Given the description of an element on the screen output the (x, y) to click on. 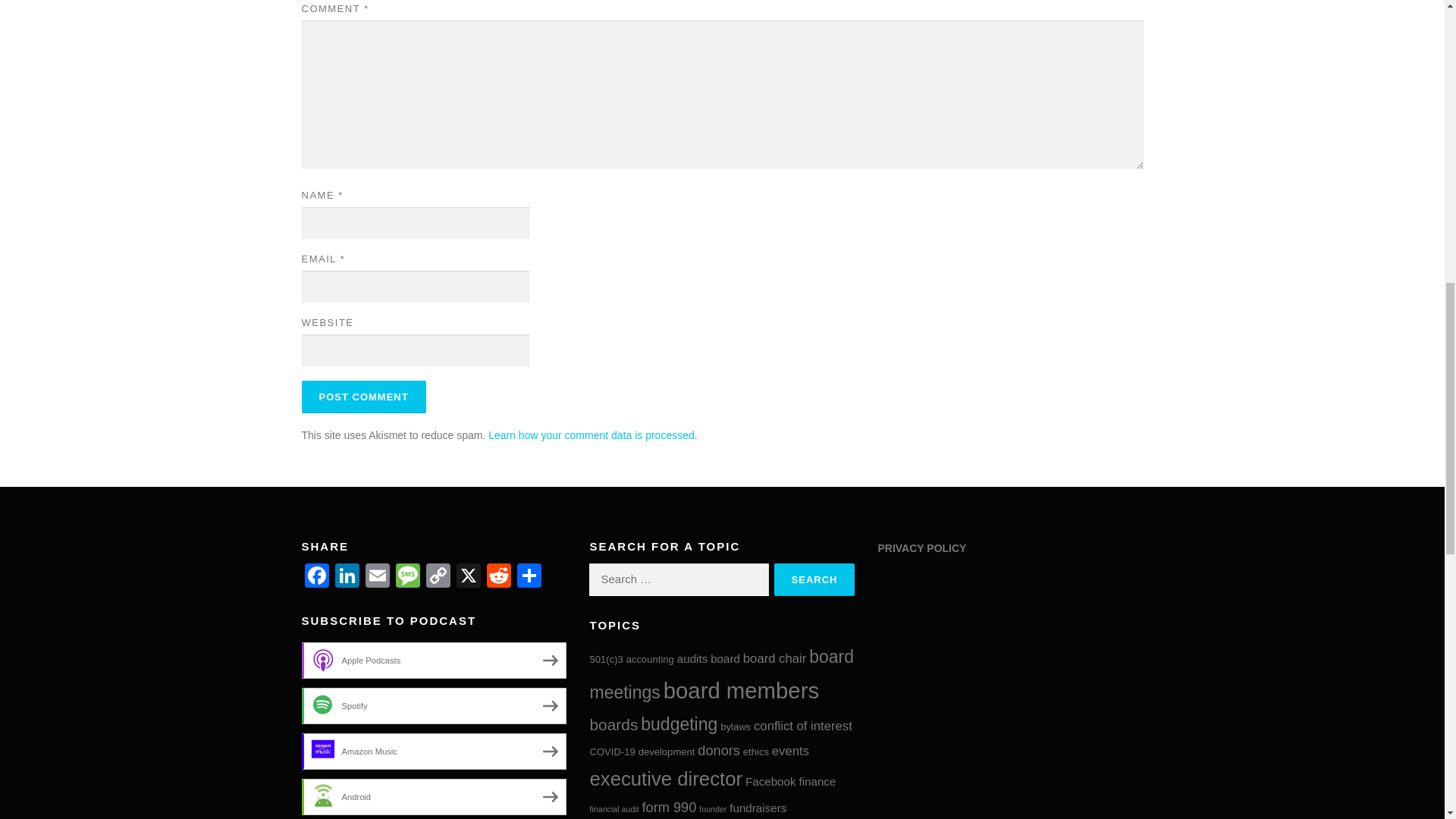
Search (815, 579)
Post Comment (363, 396)
Search (815, 579)
